Given the description of an element on the screen output the (x, y) to click on. 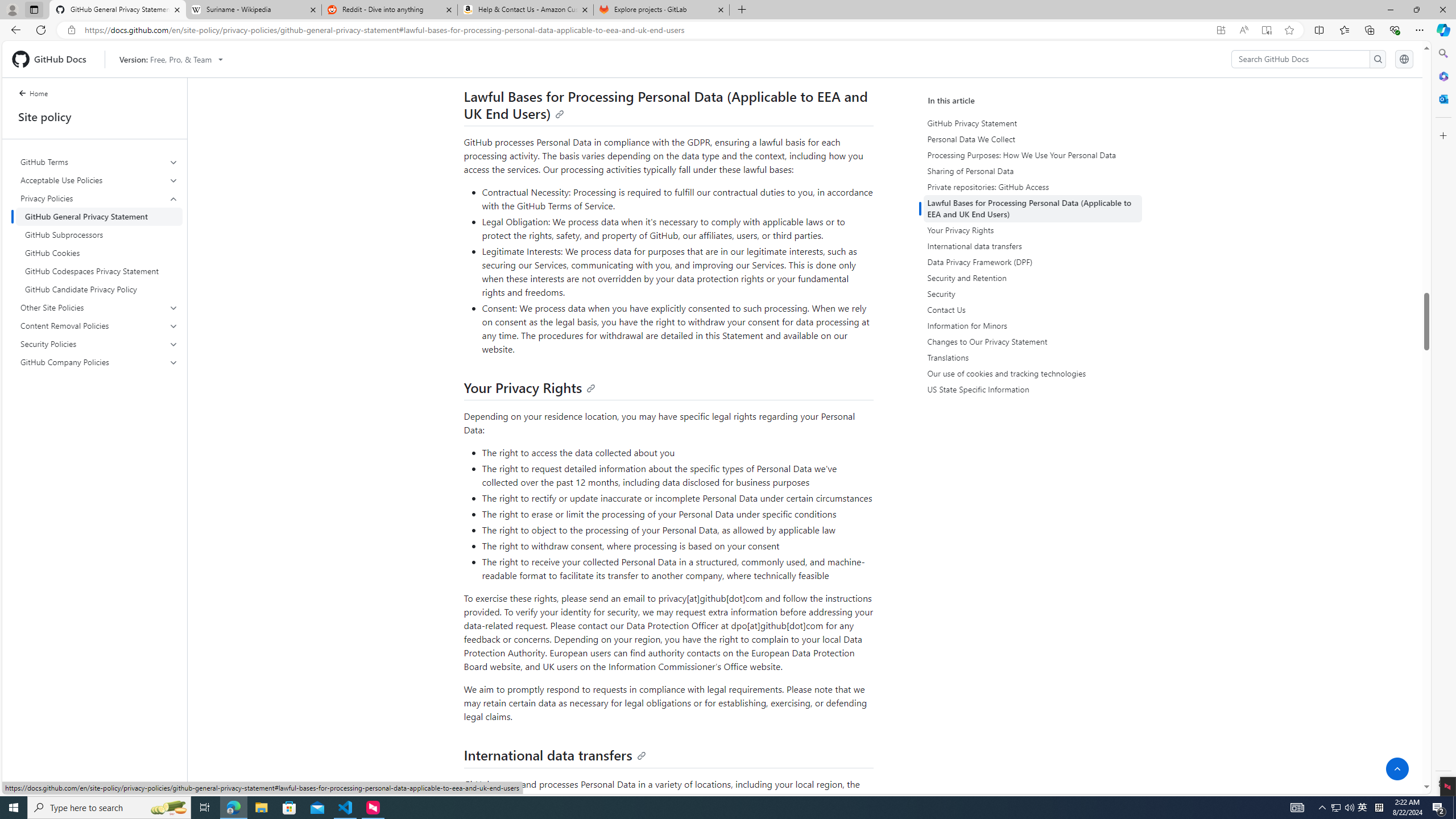
Sharing of Personal Data (1034, 170)
GitHub Codespaces Privacy Statement (99, 271)
GitHub Candidate Privacy Policy (99, 289)
GitHub Cookies (99, 253)
Information for Minors (1034, 325)
Privacy Policies (99, 243)
Personal Data We Collect (1032, 139)
Our use of cookies and tracking technologies (1032, 373)
